Given the description of an element on the screen output the (x, y) to click on. 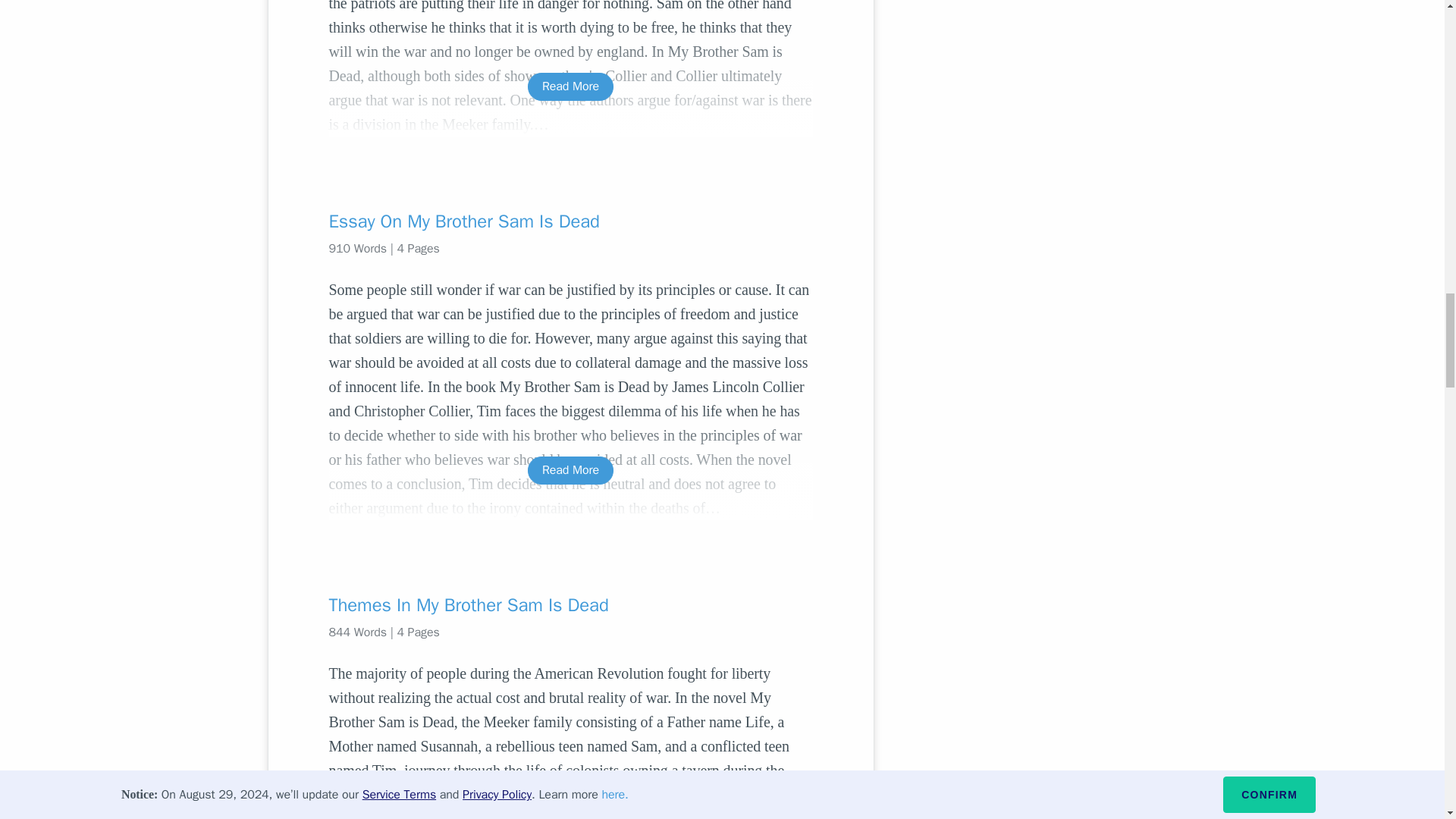
Read More (569, 86)
Essay On My Brother Sam Is Dead (570, 221)
Read More (569, 470)
Themes In My Brother Sam Is Dead (570, 604)
